Given the description of an element on the screen output the (x, y) to click on. 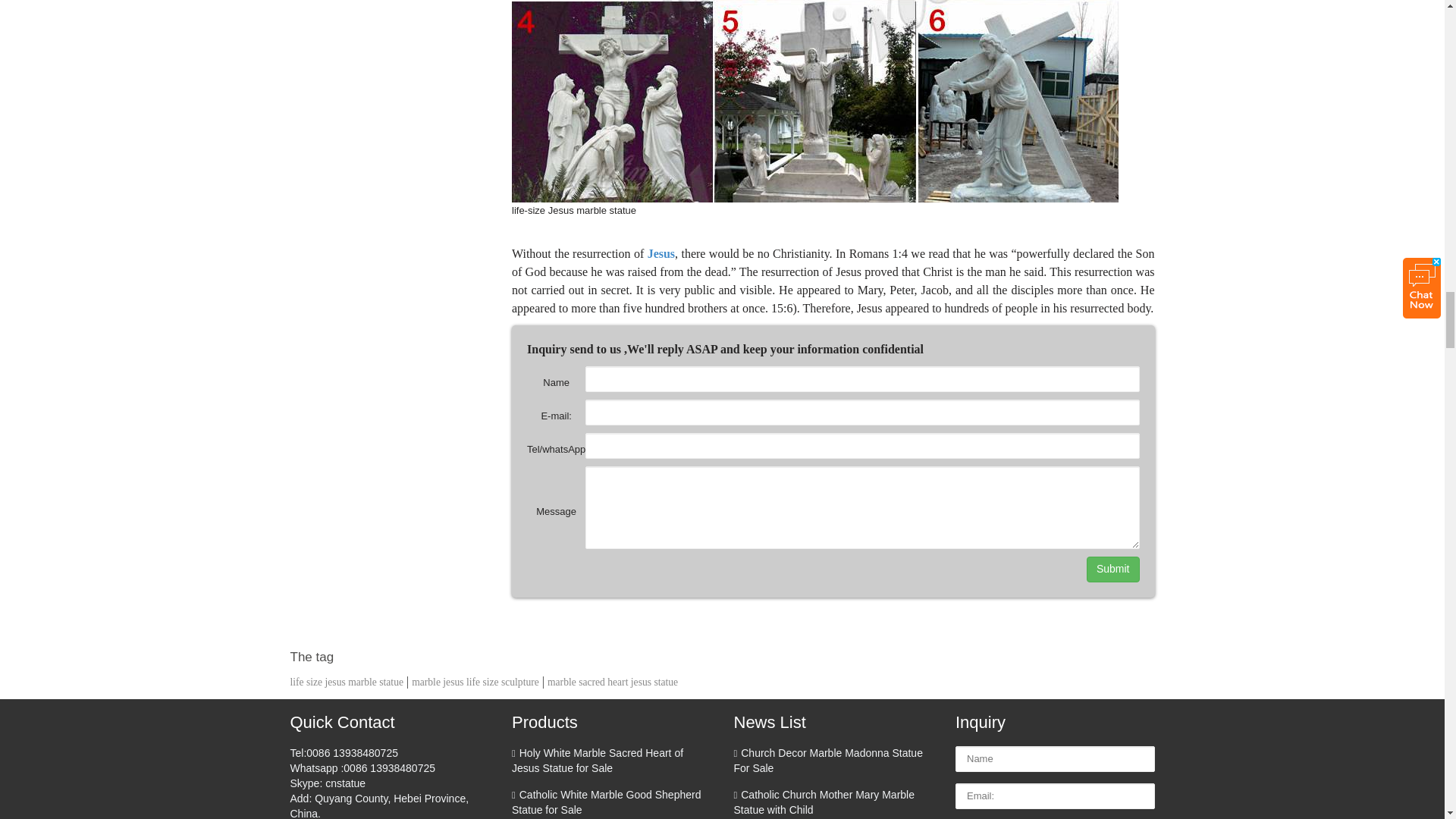
Submit (1113, 569)
